Given the description of an element on the screen output the (x, y) to click on. 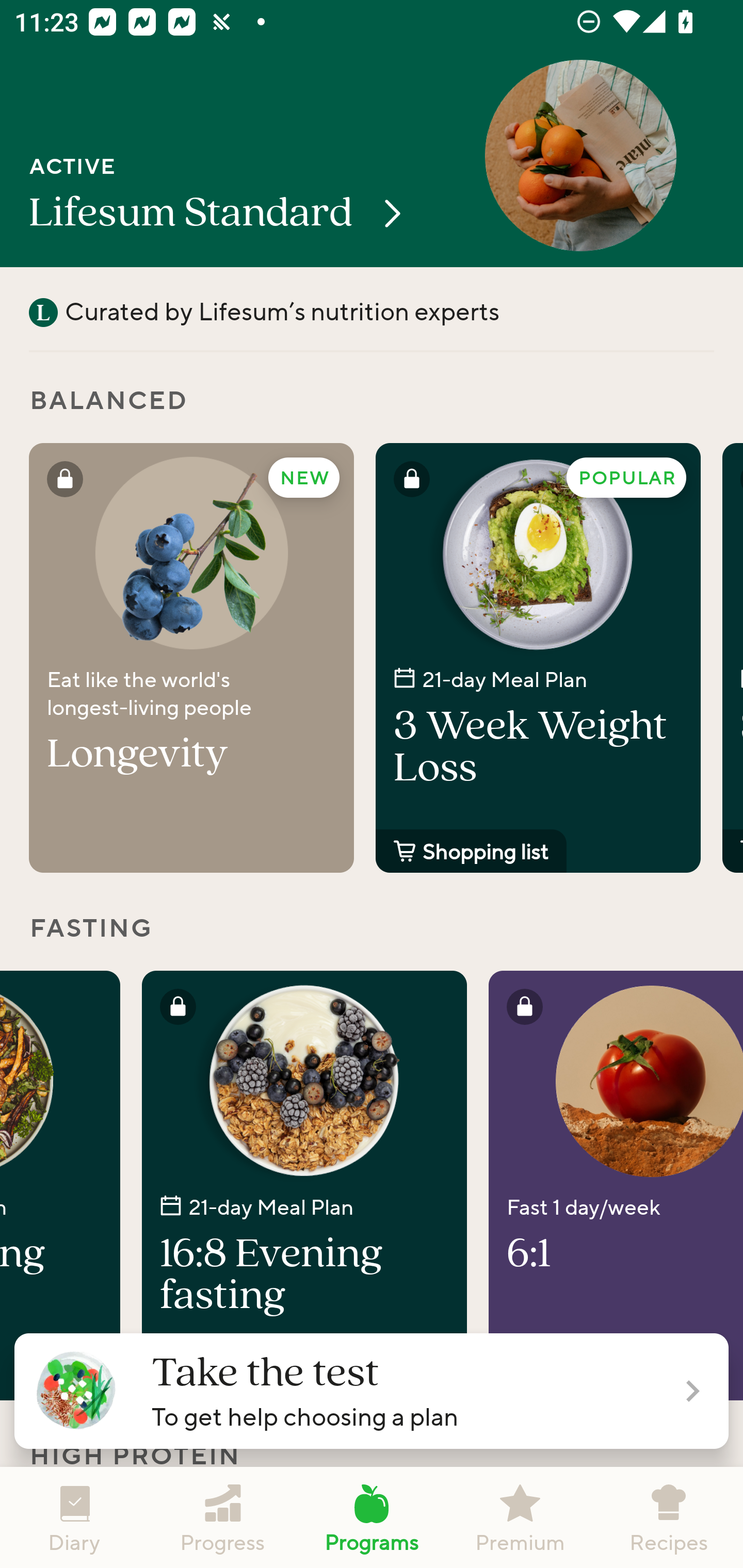
Fast 1 day/week 6:1 (615, 1185)
Take the test To get help choosing a plan (371, 1390)
Diary (74, 1517)
Progress (222, 1517)
Premium (519, 1517)
Recipes (668, 1517)
